Given the description of an element on the screen output the (x, y) to click on. 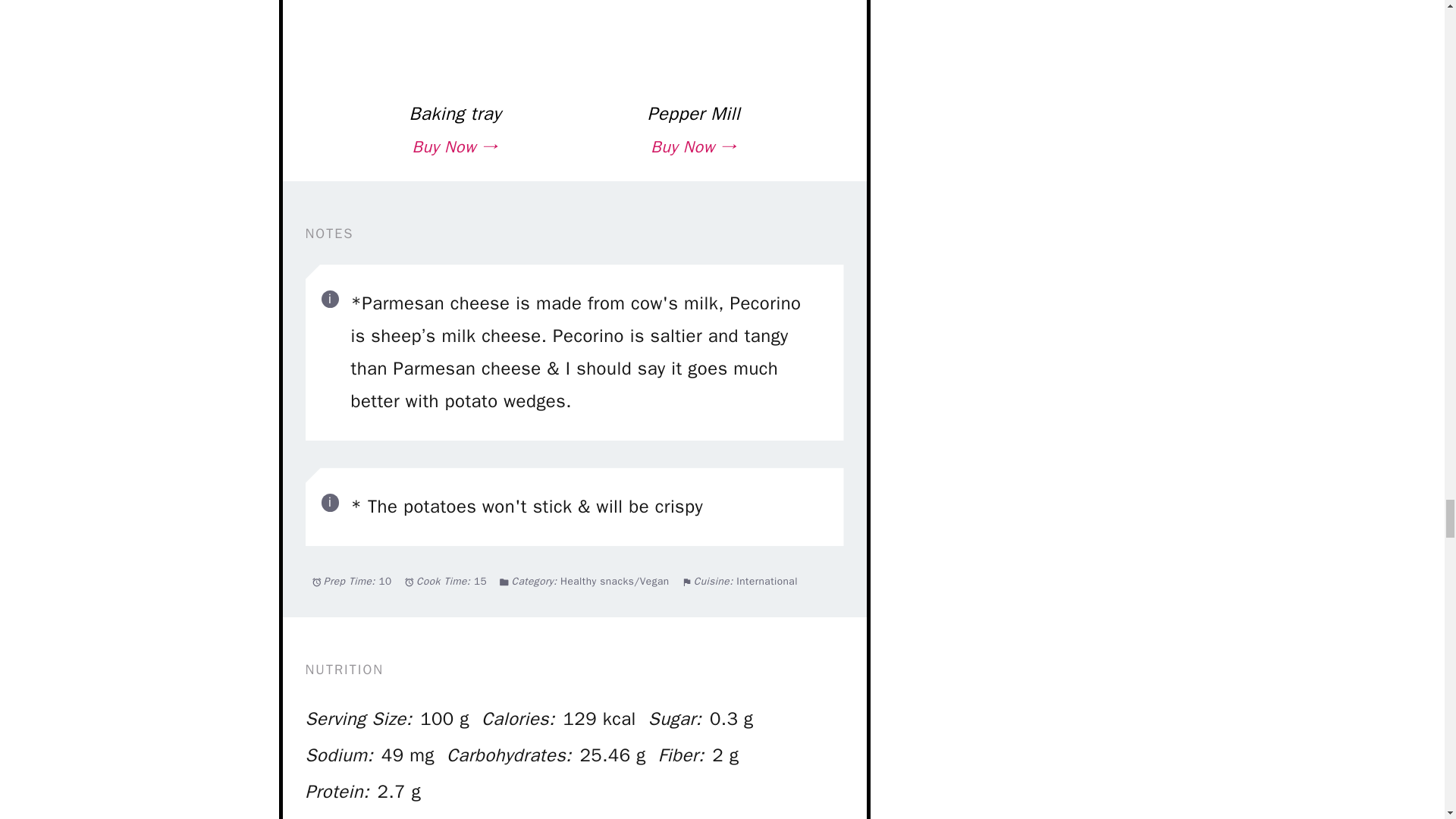
Baking tray (454, 113)
Pepper Mill (693, 113)
